Given the description of an element on the screen output the (x, y) to click on. 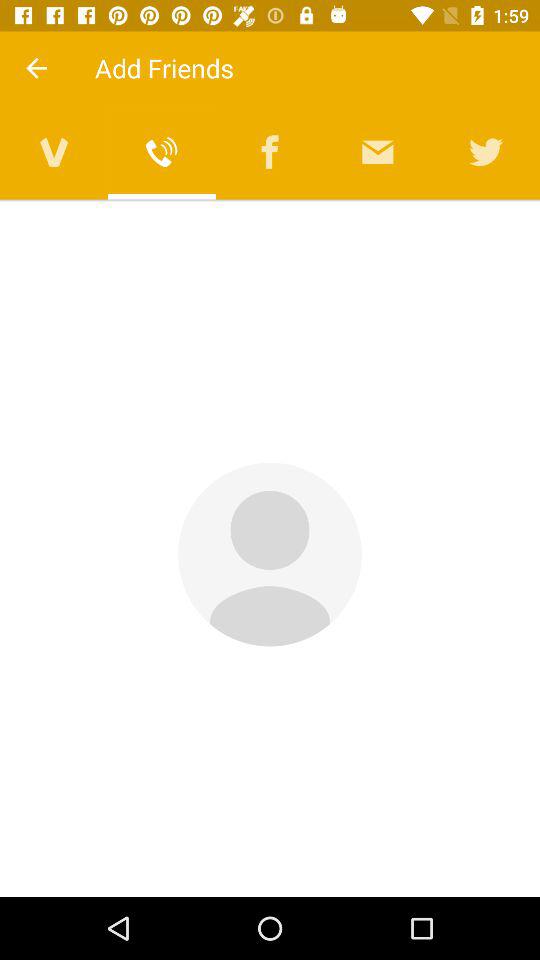
go to (54, 152)
